Given the description of an element on the screen output the (x, y) to click on. 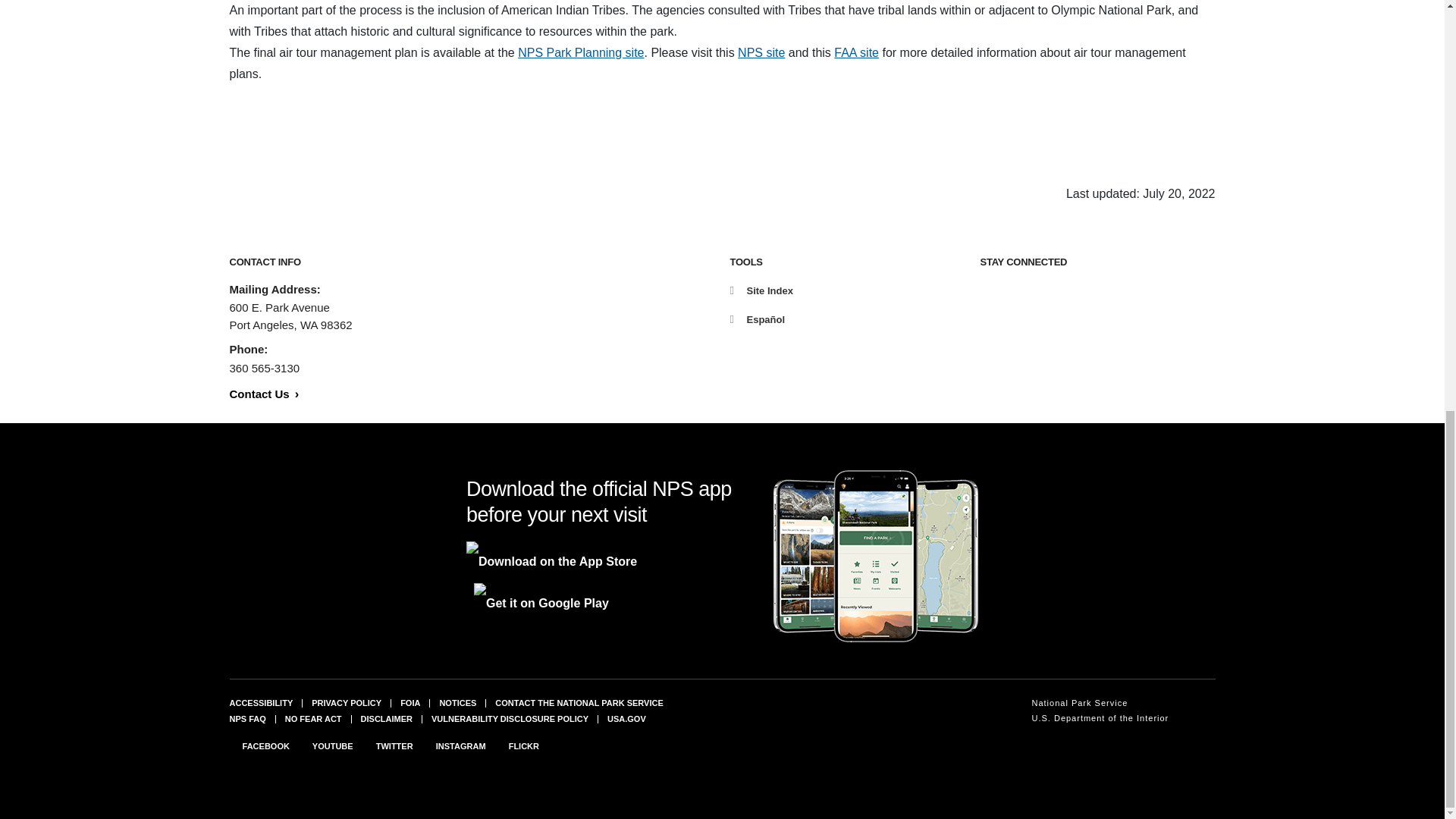
FAA site (856, 51)
NPS Park Planning site (580, 51)
Site Index (760, 290)
Contact Us (263, 393)
National Park Service frequently asked questions (246, 718)
NPS site (761, 51)
